Given the description of an element on the screen output the (x, y) to click on. 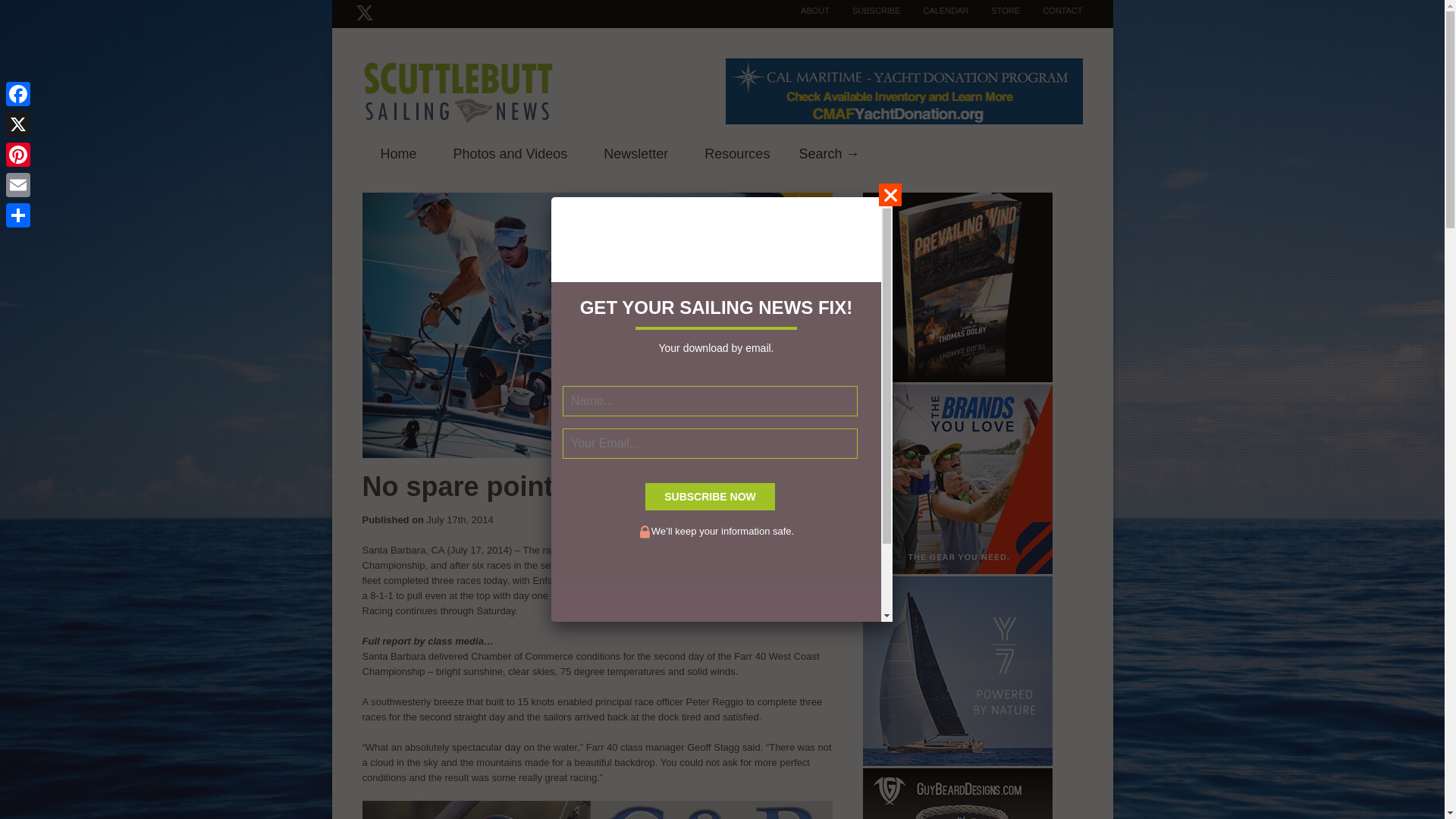
Dock Talk (828, 151)
Home (398, 154)
Photos and Videos (510, 154)
Subscribe NOW (709, 496)
ABOUT (803, 10)
CALENDAR (935, 10)
Newsletter (635, 154)
Resources (736, 154)
SUBSCRIBE (865, 10)
CONTACT (1050, 10)
STORE (994, 10)
